Given the description of an element on the screen output the (x, y) to click on. 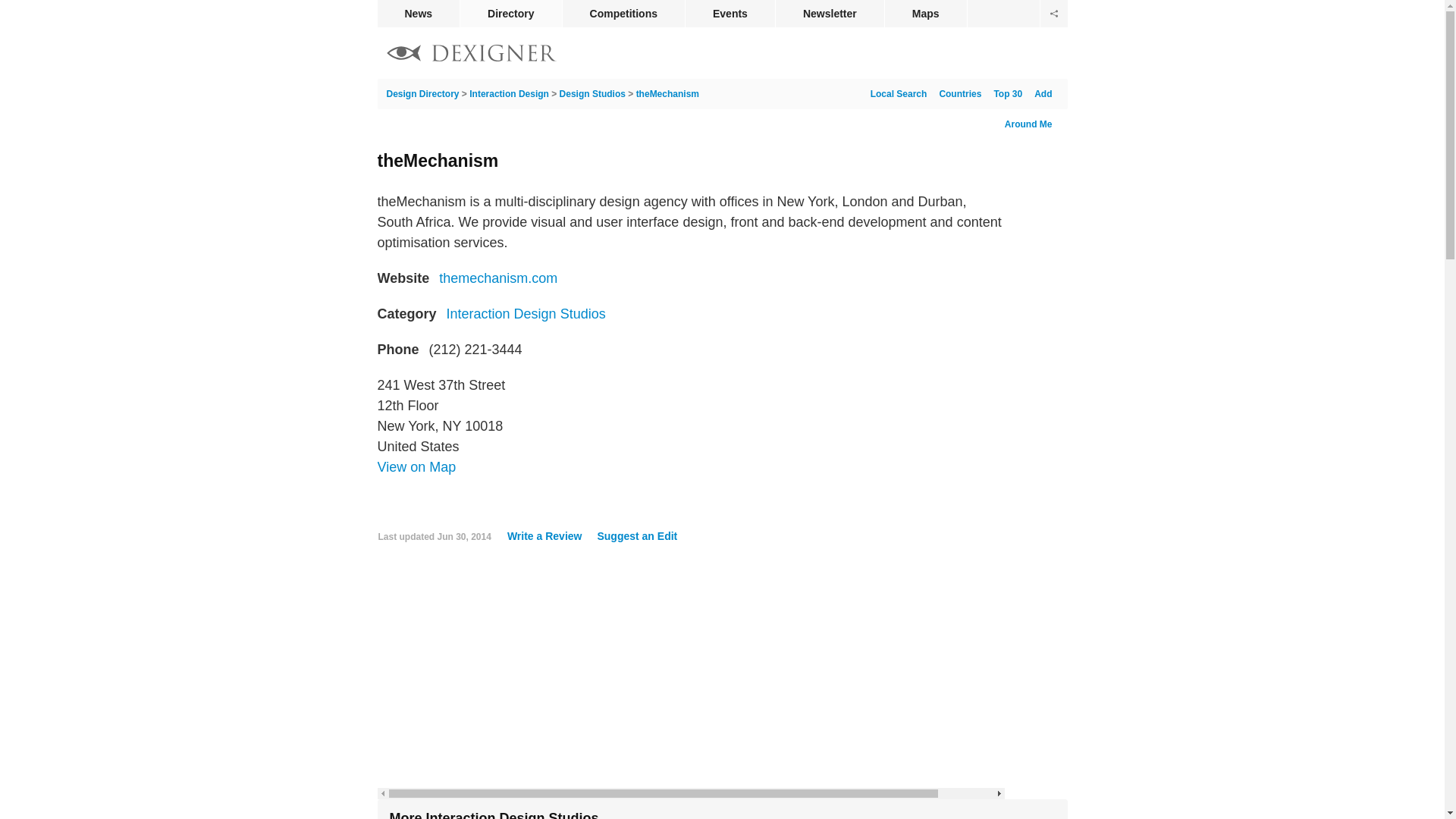
Top 30 (1004, 93)
follow dexigner (1054, 13)
Local Search (895, 93)
View on Map (417, 467)
New York, NY, United States (417, 467)
Design Studios (592, 93)
Competitions (623, 13)
Maps (925, 13)
Events (729, 13)
Directory (510, 13)
